Given the description of an element on the screen output the (x, y) to click on. 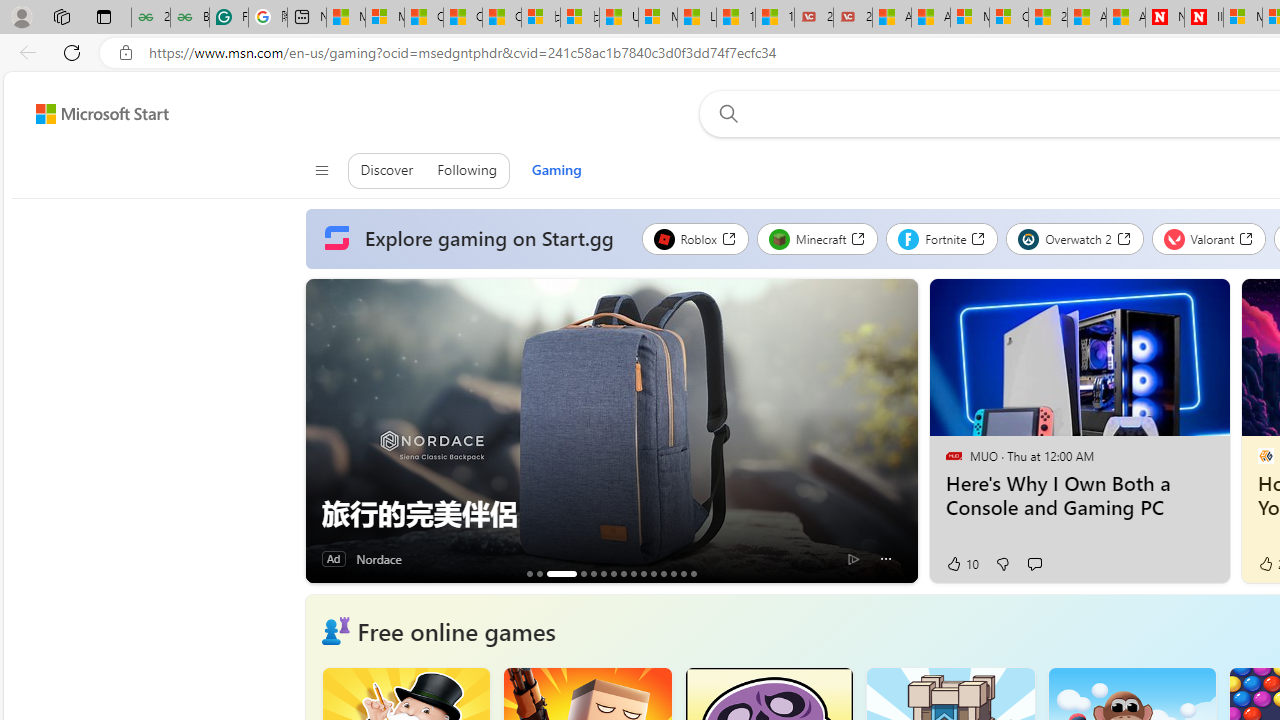
21 Movies That Outdid the Books They Were Based On (852, 17)
CYGNI: All Guns Blazing | Official Launch Trailer (583, 573)
